Given the description of an element on the screen output the (x, y) to click on. 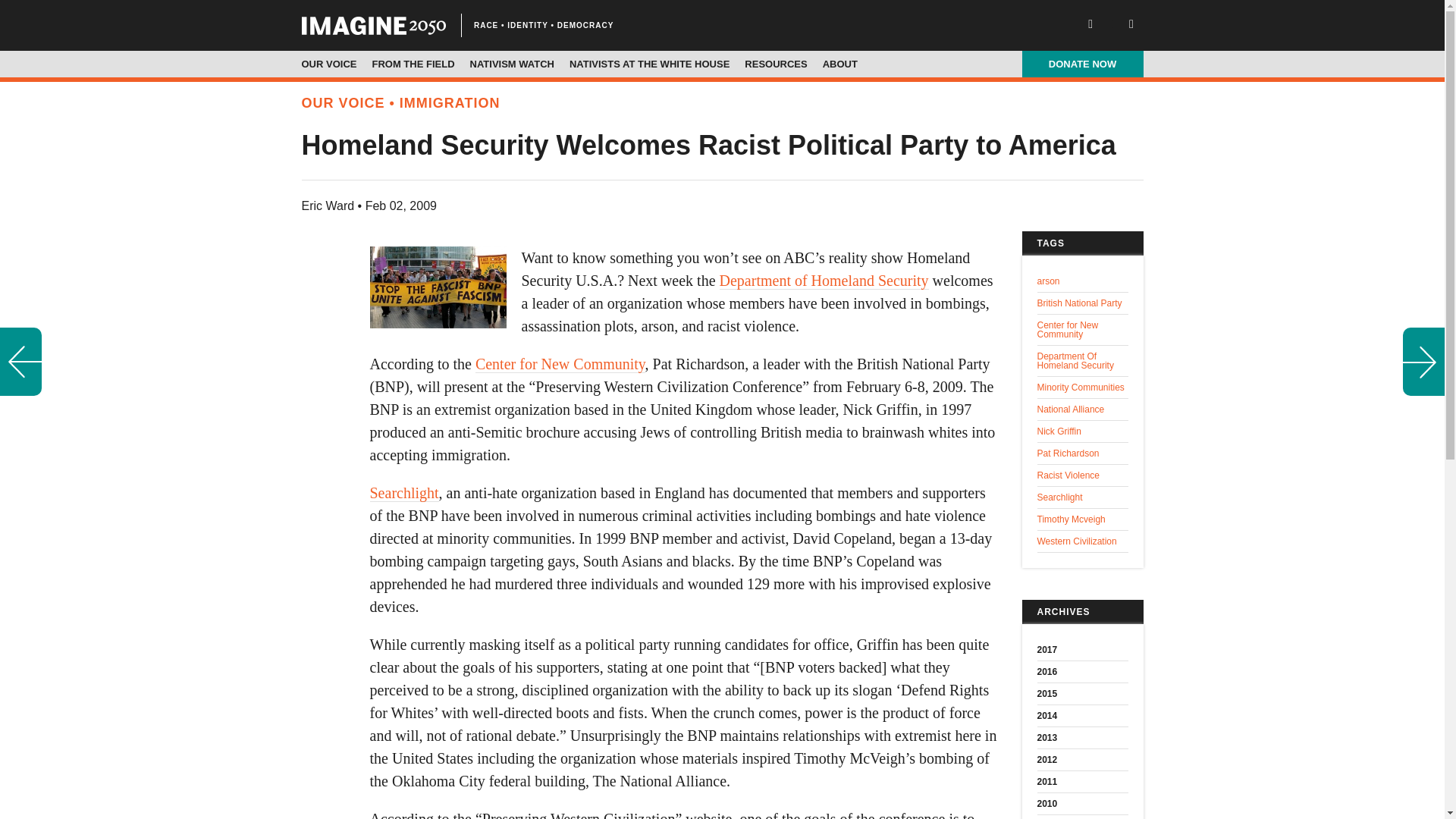
IMMIGRATION (449, 102)
Pat Richardson (1082, 454)
Search (60, 13)
Department Of Homeland Security (1082, 360)
Department of Homeland Security (823, 280)
Western Civilization (1082, 541)
NATIVISM WATCH (512, 63)
2017 (1082, 649)
FROM THE FIELD (412, 63)
arson (1082, 281)
